Given the description of an element on the screen output the (x, y) to click on. 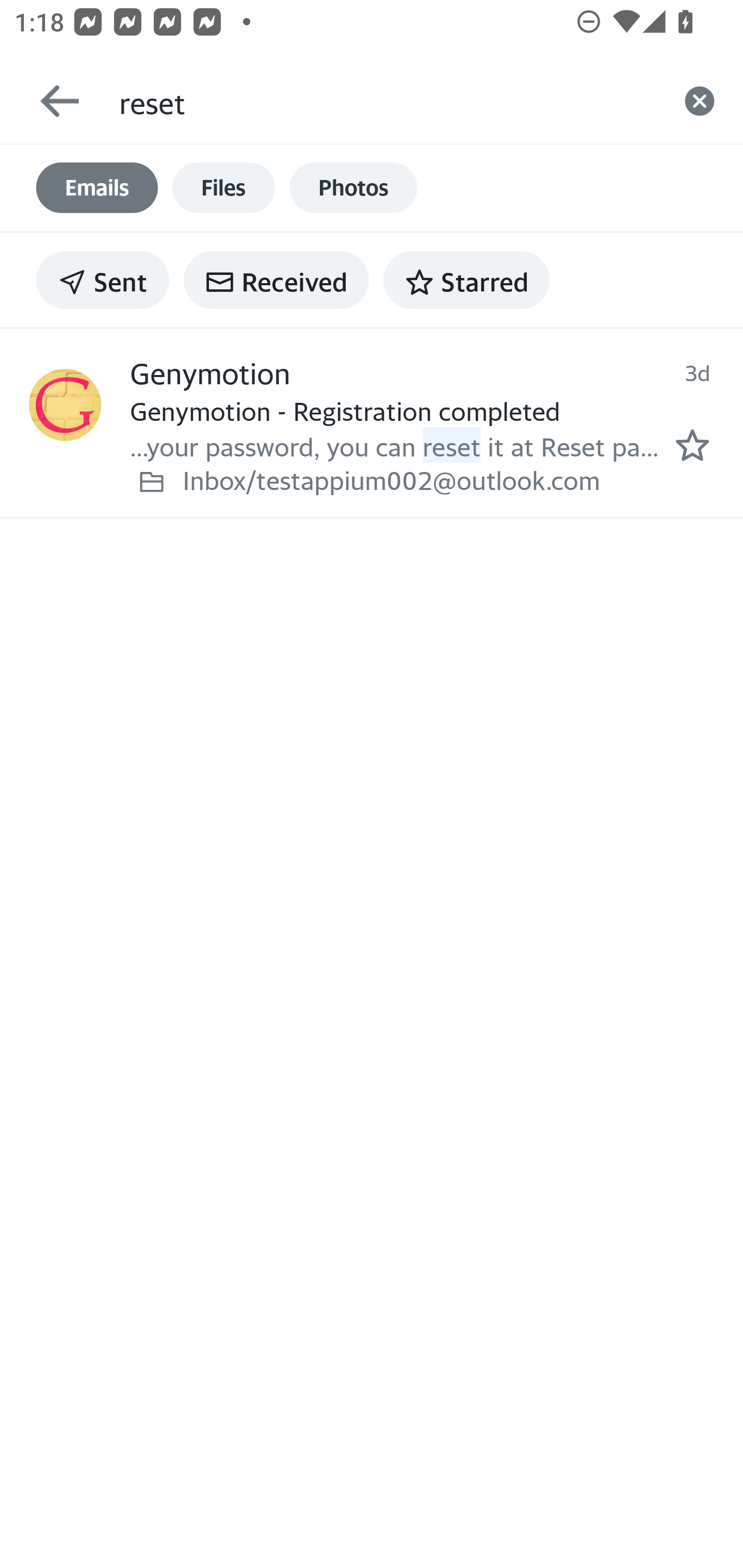
Back (50, 101)
reset (387, 101)
Clear (699, 101)
Emails (96, 188)
Files (223, 188)
Photos (353, 188)
Sent (102, 279)
Received (276, 279)
Starred (466, 279)
Profile
Genymotion (64, 404)
Mark as starred. (692, 444)
